Given the description of an element on the screen output the (x, y) to click on. 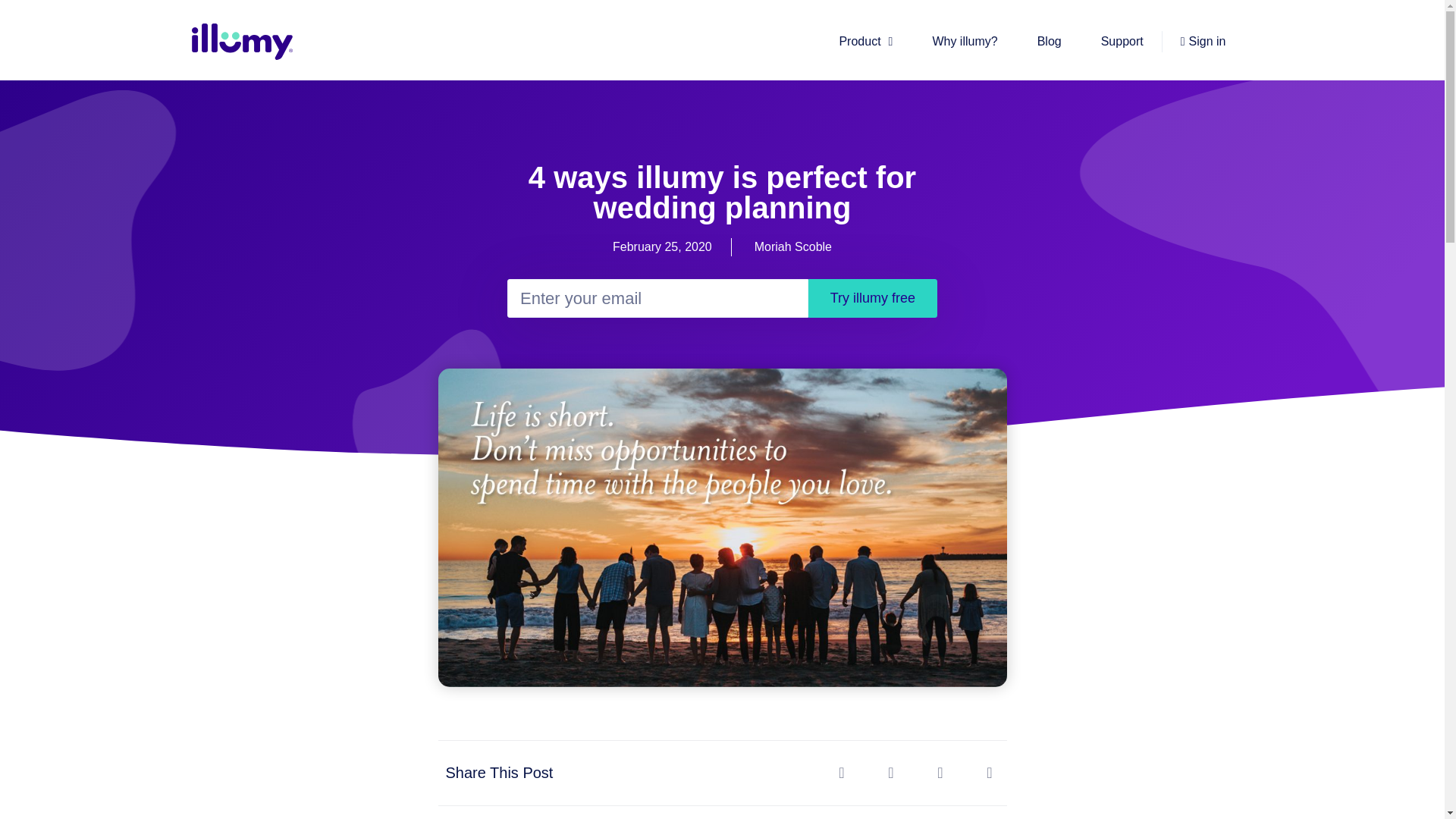
Blog (1049, 41)
Product (866, 41)
Support (1122, 41)
Sign in (1202, 41)
Why illumy? (964, 41)
